Given the description of an element on the screen output the (x, y) to click on. 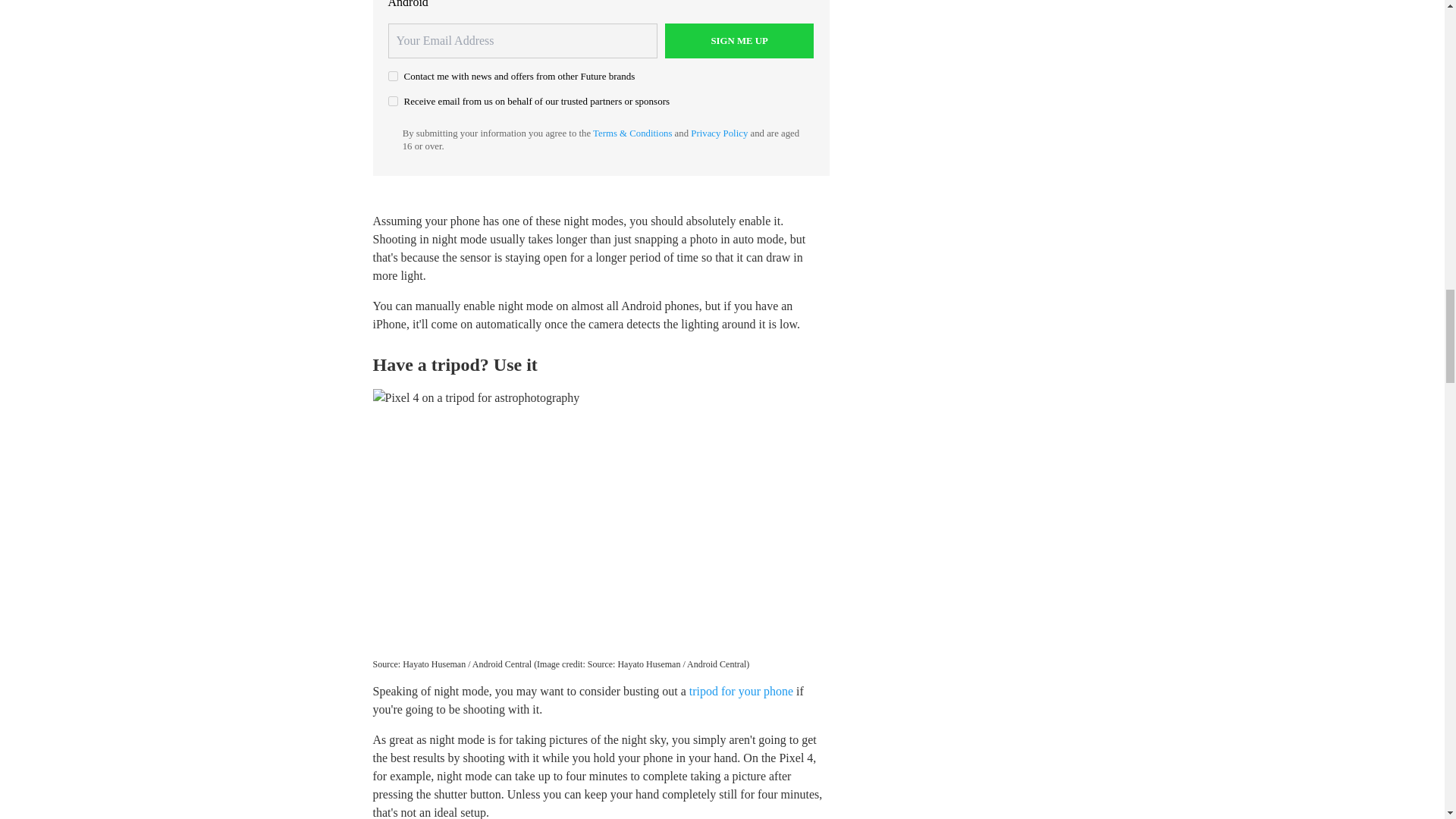
on (392, 101)
on (392, 76)
Sign me up (739, 40)
